Given the description of an element on the screen output the (x, y) to click on. 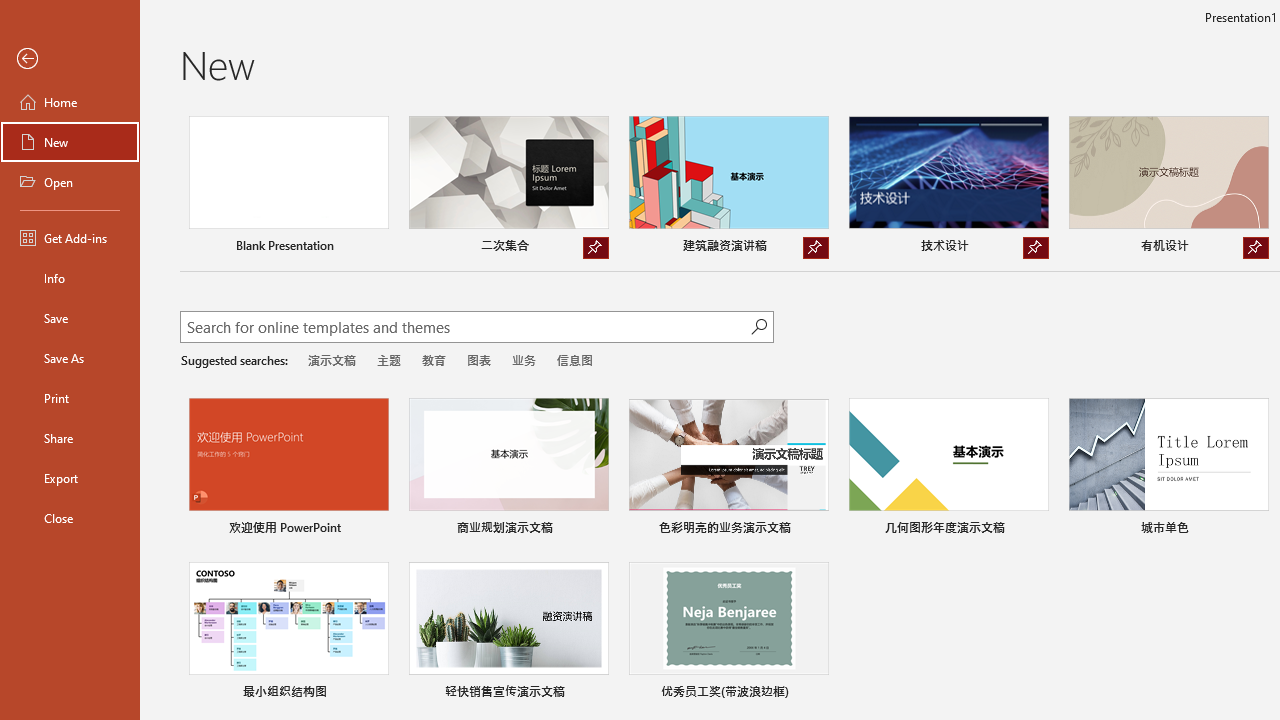
Start searching (758, 326)
Back (69, 59)
Get Add-ins (69, 237)
Blank Presentation (288, 187)
Pin to list (815, 693)
